Given the description of an element on the screen output the (x, y) to click on. 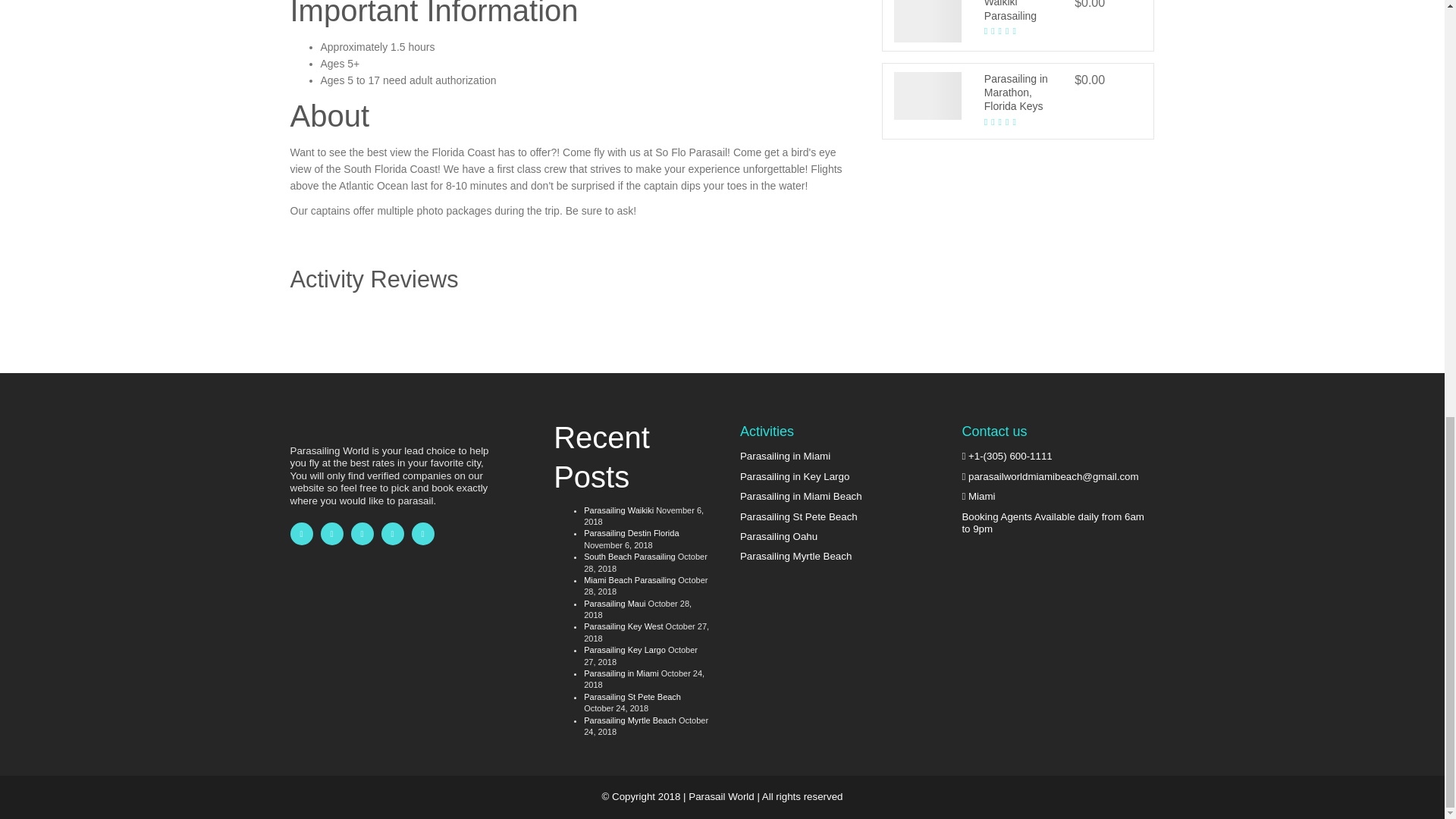
FareHarbor (1342, 30)
